Given the description of an element on the screen output the (x, y) to click on. 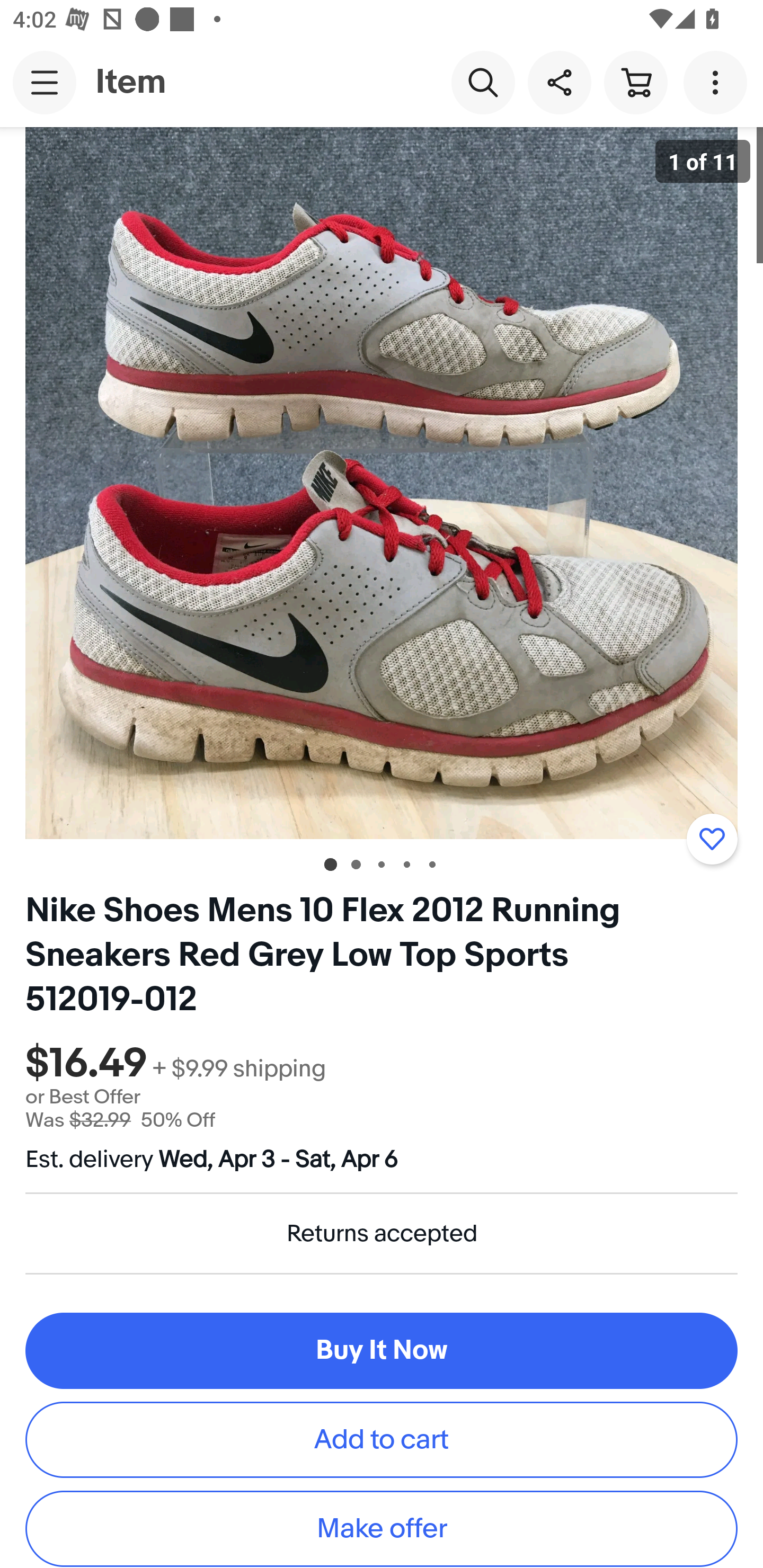
Main navigation, open (44, 82)
Search (482, 81)
Share this item (559, 81)
Cart button shopping cart (635, 81)
More options (718, 81)
Item image 1 of 11 (381, 482)
Add to watchlist (711, 838)
Buy It Now (381, 1350)
Add to cart (381, 1439)
Make offer (381, 1528)
